Given the description of an element on the screen output the (x, y) to click on. 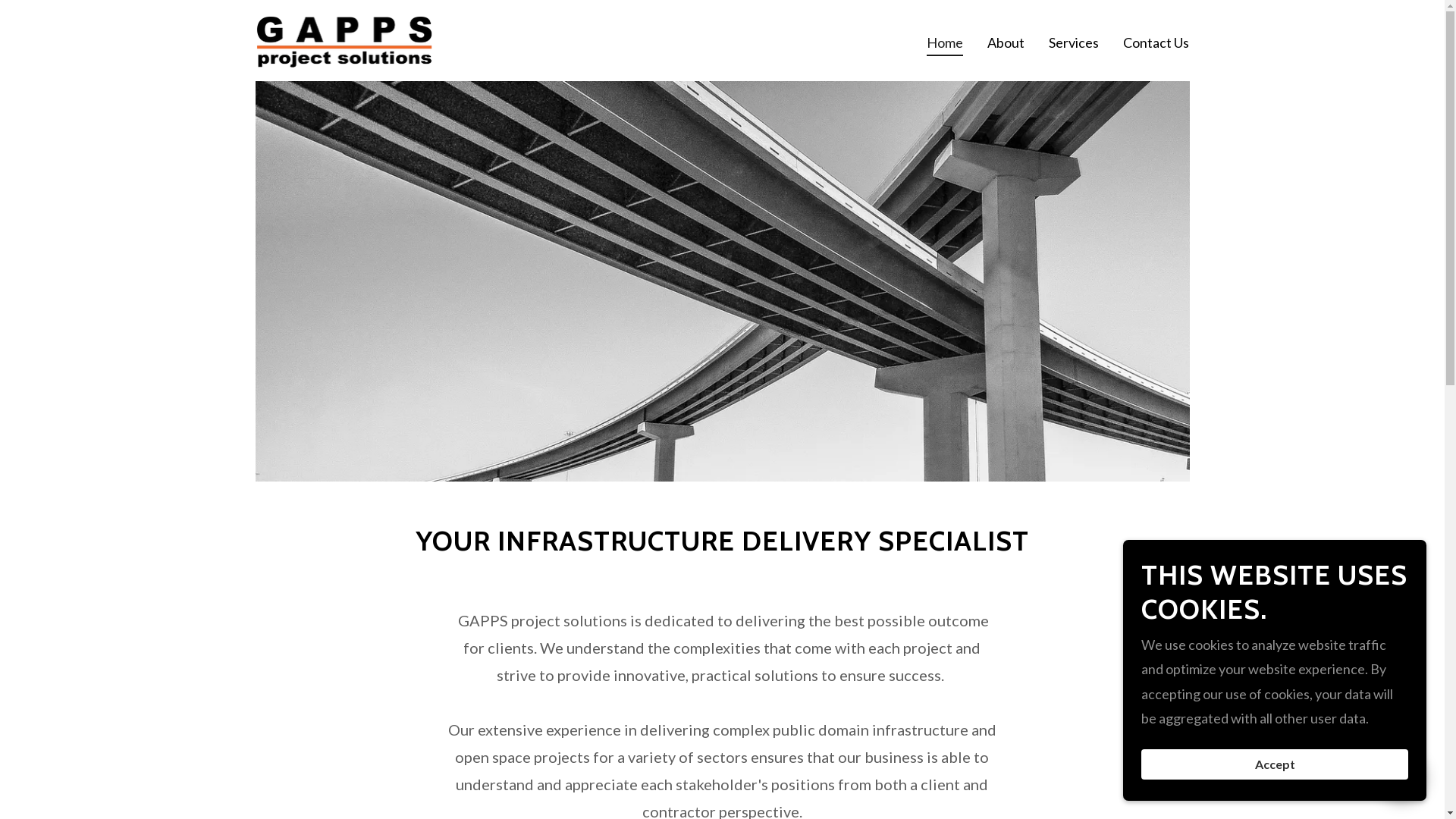
Contact Us Element type: text (1155, 41)
GAPPS project solutions Element type: hover (343, 38)
About Element type: text (1005, 41)
Services Element type: text (1073, 41)
Accept Element type: text (1274, 764)
Home Element type: text (944, 44)
